Given the description of an element on the screen output the (x, y) to click on. 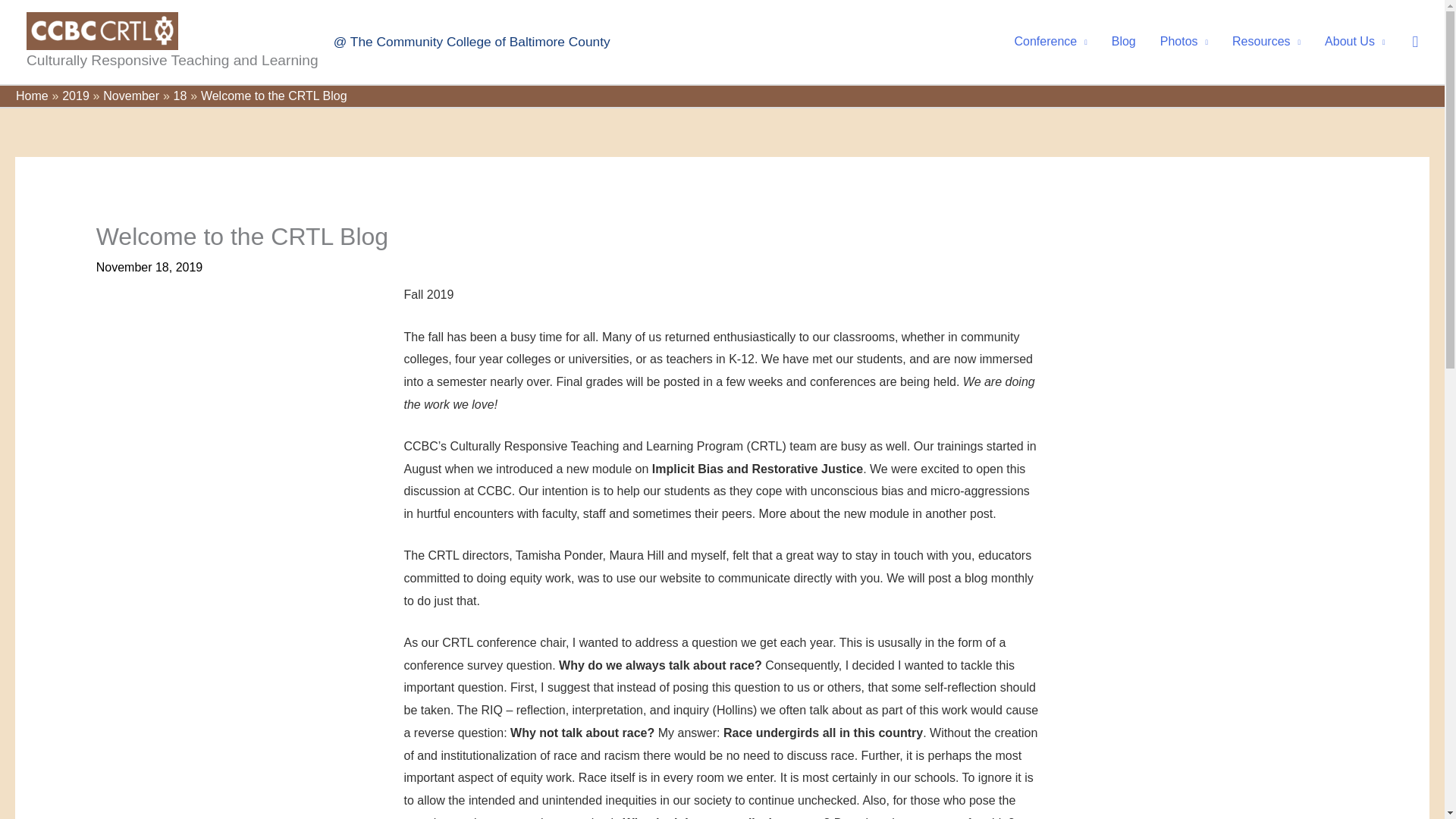
About Us (1354, 41)
Resources (1266, 41)
Photos (1184, 41)
Conference (1050, 41)
Blog (1123, 41)
